Given the description of an element on the screen output the (x, y) to click on. 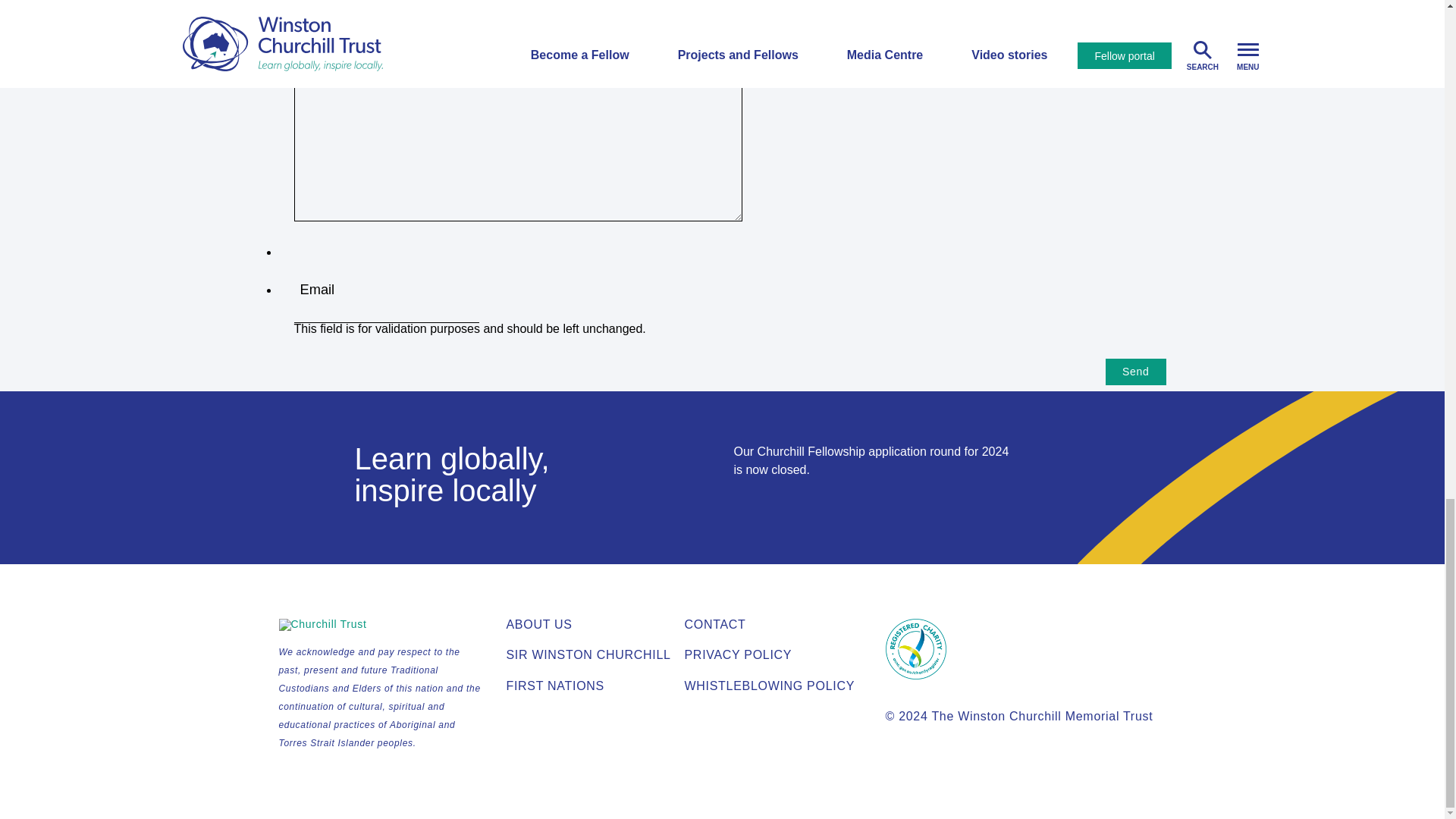
PRIVACY POLICY (738, 654)
WHISTLEBLOWING POLICY (769, 685)
SIR WINSTON CHURCHILL (588, 654)
Send (1135, 371)
Send (1135, 371)
CONTACT (714, 624)
ABOUT US (539, 624)
FIRST NATIONS (555, 685)
